Given the description of an element on the screen output the (x, y) to click on. 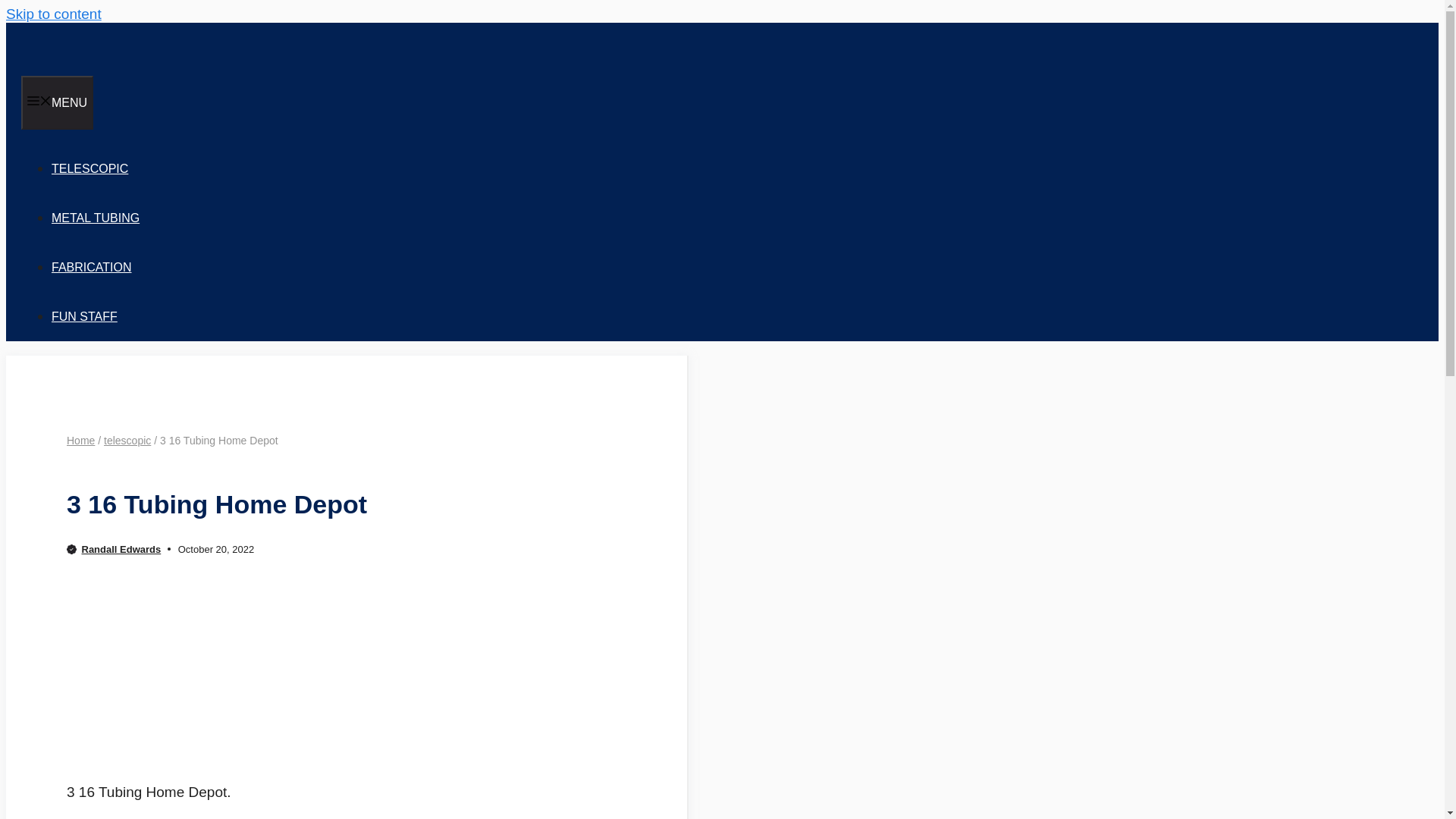
MENU (57, 102)
METAL TUBING (94, 217)
Randall Edwards (121, 549)
telescopic (127, 440)
Telescopic Tube (145, 67)
Telescopic Tube (145, 47)
Skip to content (53, 13)
Home (80, 440)
FUN STAFF (83, 316)
FABRICATION (91, 267)
